Given the description of an element on the screen output the (x, y) to click on. 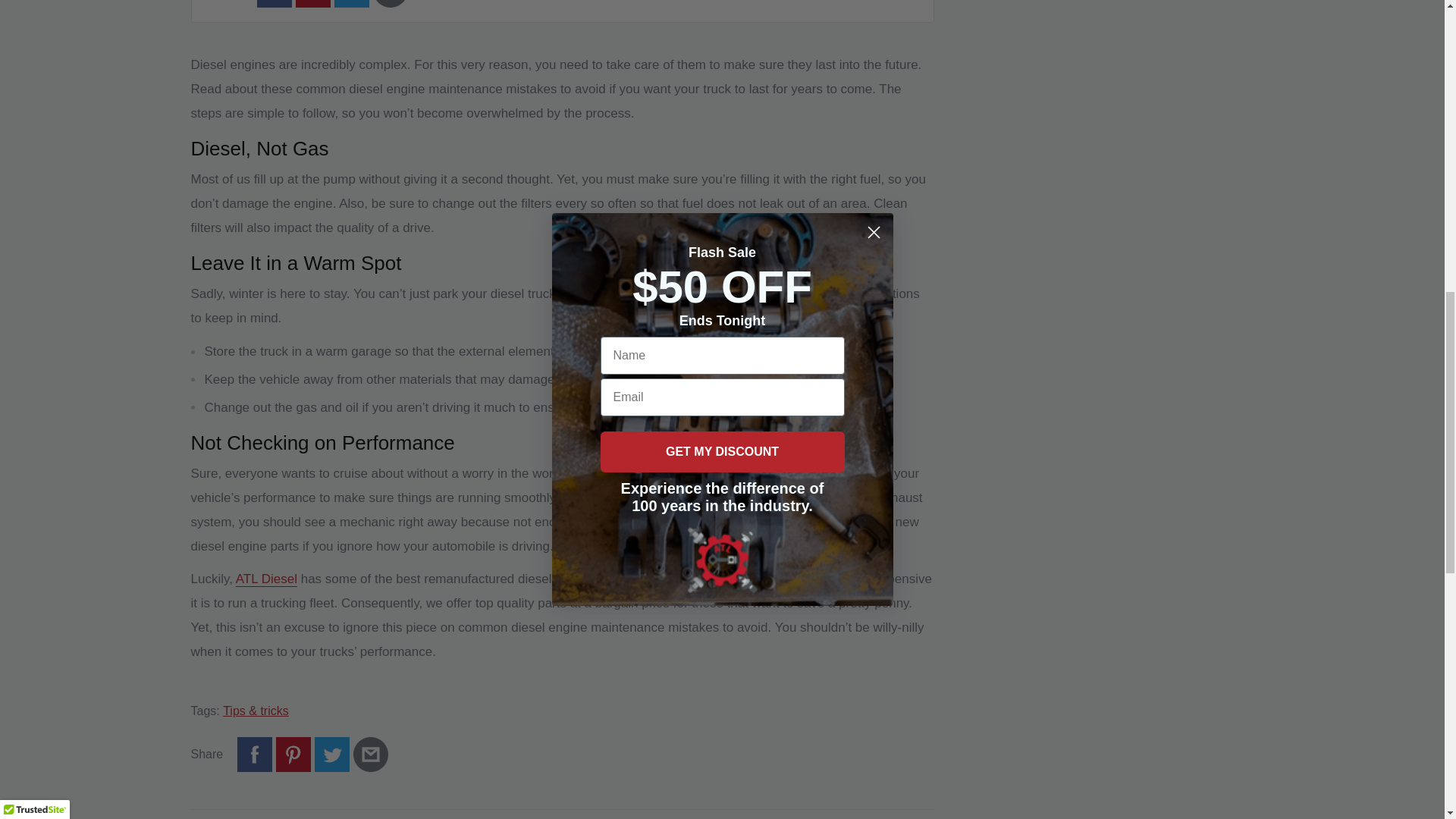
TrustedSite Certified (34, 4)
